Given the description of an element on the screen output the (x, y) to click on. 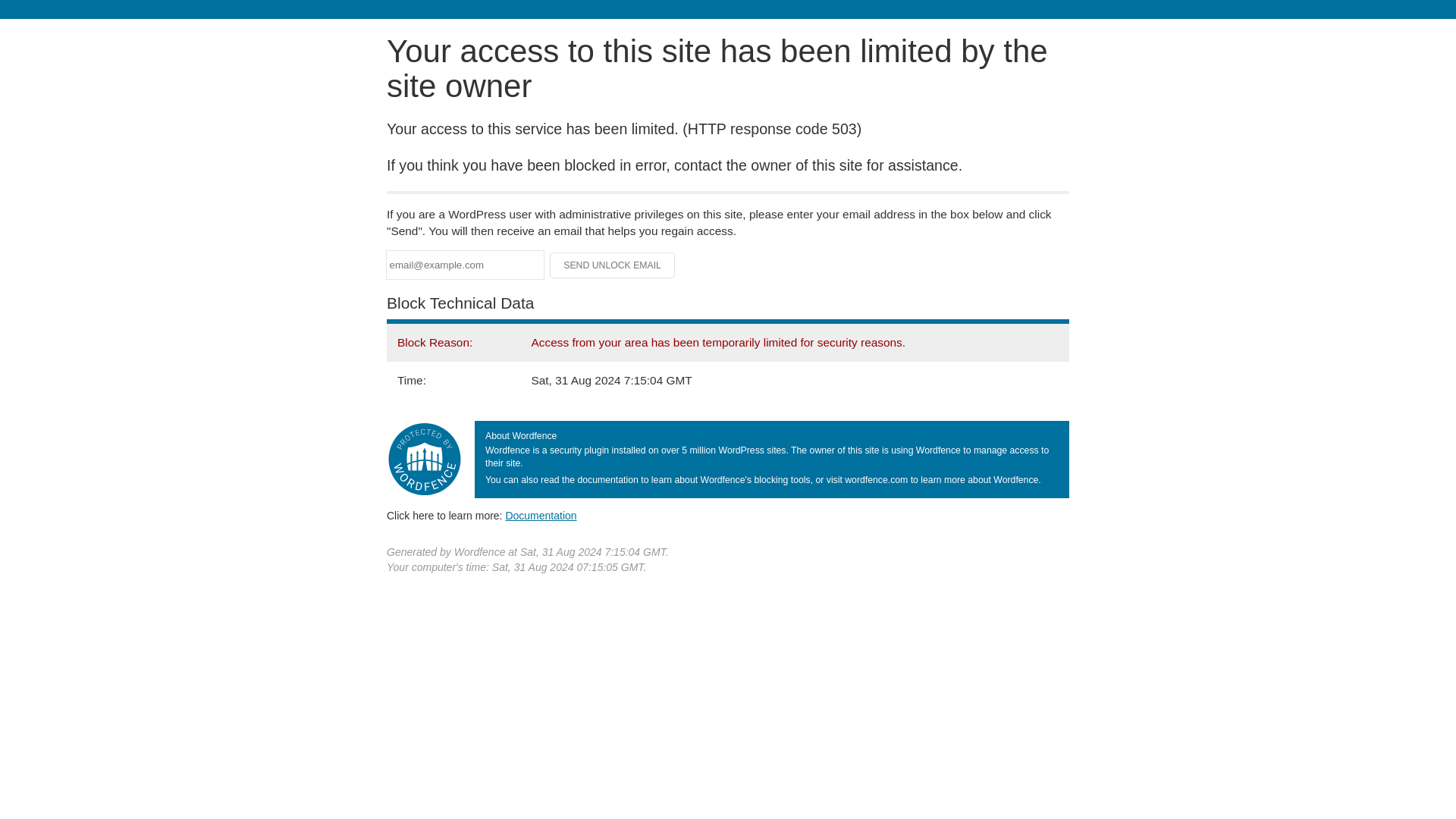
Send Unlock Email (612, 265)
Send Unlock Email (612, 265)
Documentation (540, 515)
